Given the description of an element on the screen output the (x, y) to click on. 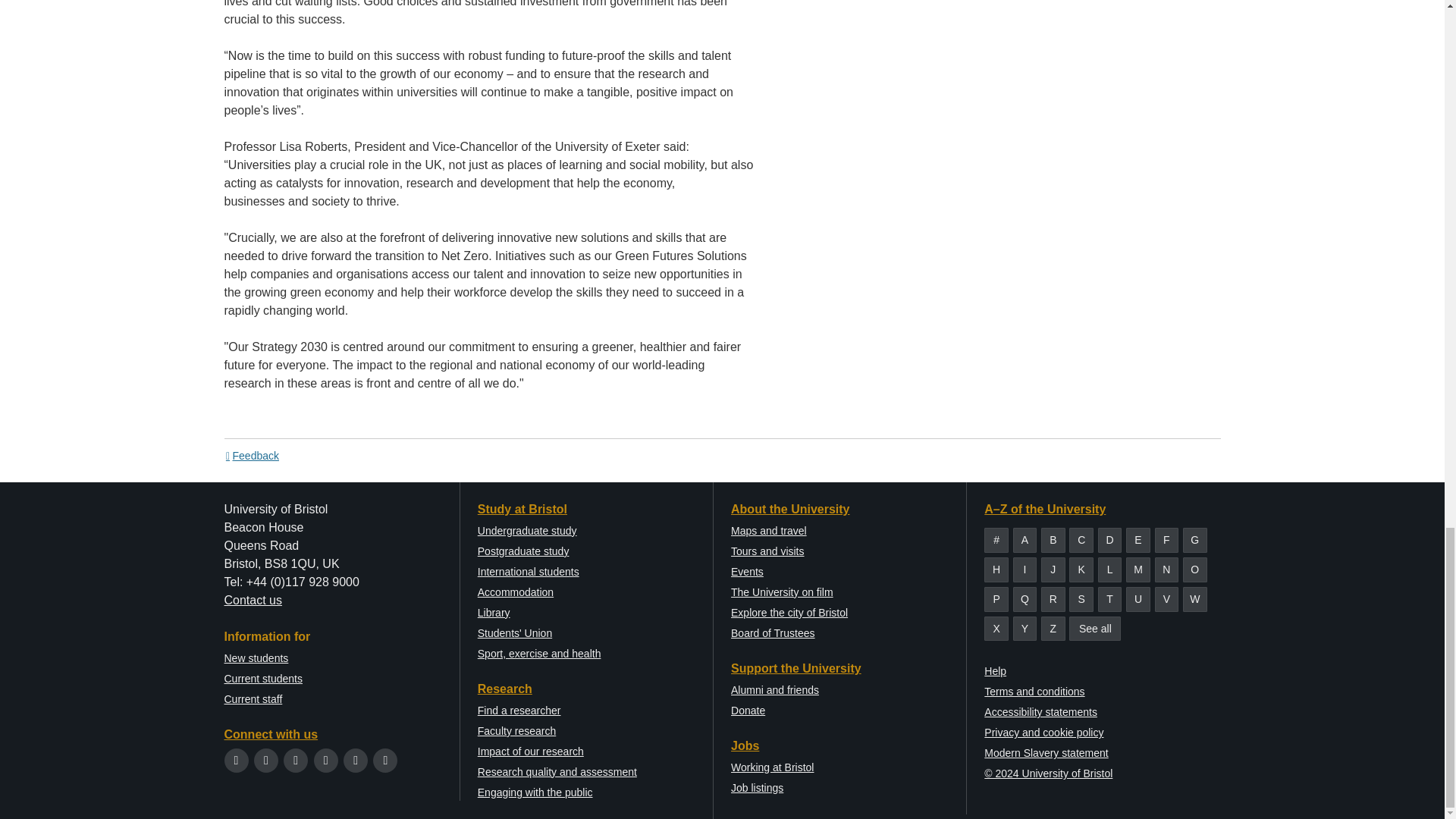
Twitter (236, 760)
Facebook (265, 760)
Current students (263, 678)
LinkedIn (355, 760)
Connect with us (271, 734)
Flickr (384, 760)
New students (256, 657)
YouTube (325, 760)
Contact us (253, 599)
Instagram (295, 760)
